Given the description of an element on the screen output the (x, y) to click on. 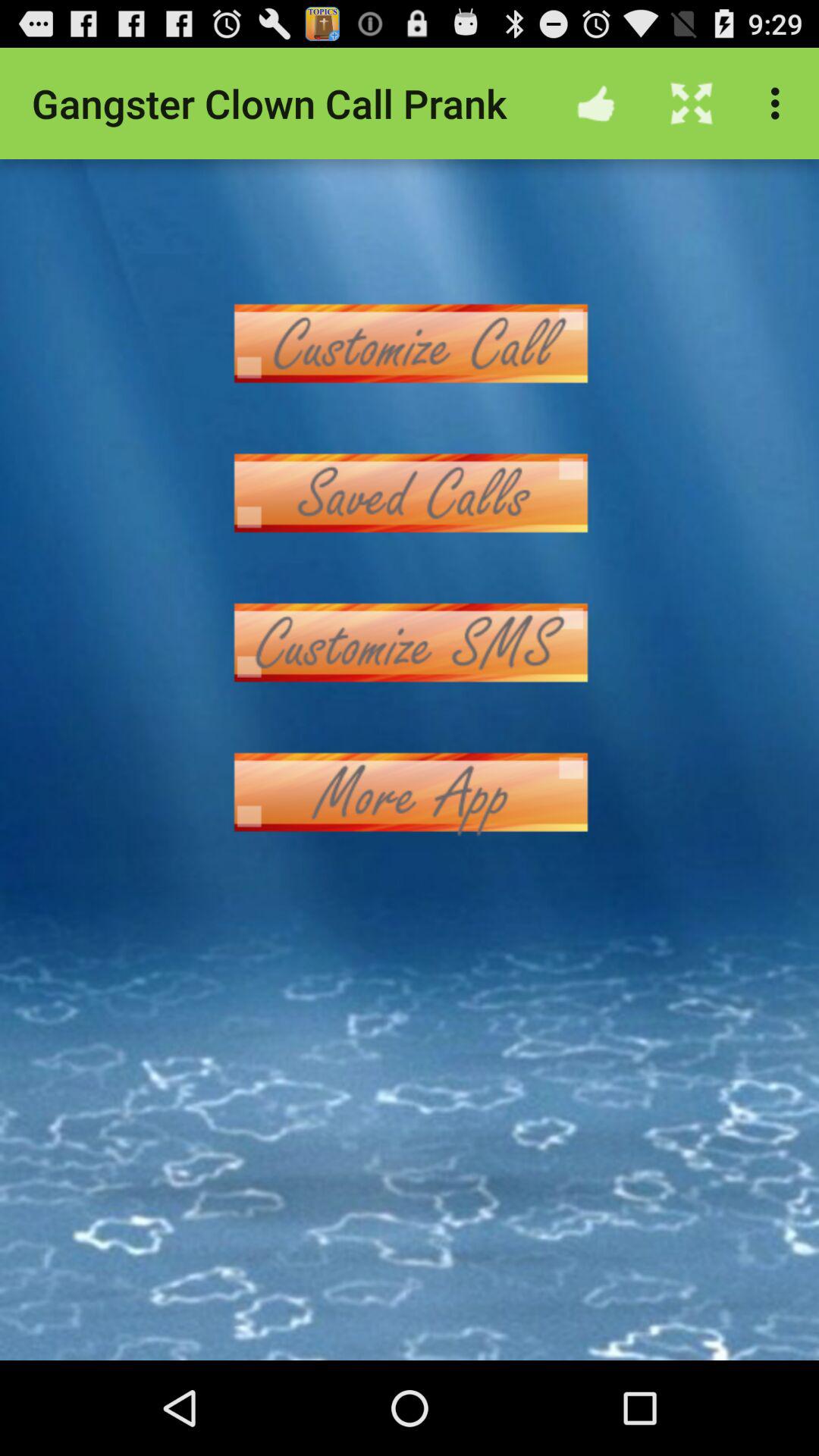
choose the option (409, 343)
